Given the description of an element on the screen output the (x, y) to click on. 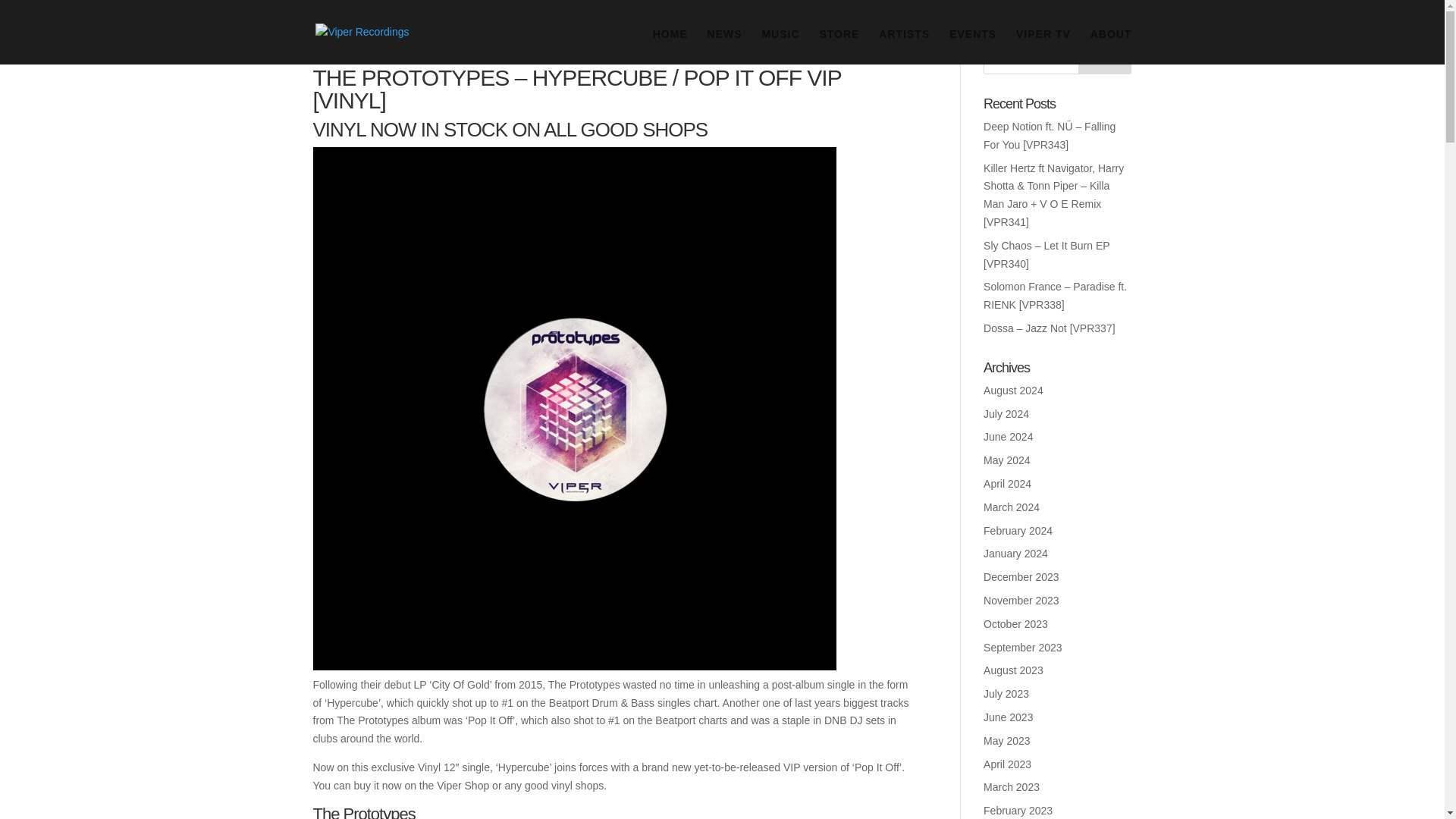
STORE (838, 44)
May 2023 (1006, 740)
July 2024 (1006, 413)
February 2023 (1018, 810)
April 2024 (1007, 483)
March 2023 (1011, 787)
March 2024 (1011, 507)
August 2024 (1013, 390)
January 2024 (1016, 553)
October 2023 (1016, 623)
December 2023 (1021, 576)
August 2023 (1013, 670)
June 2024 (1008, 436)
ARTISTS (904, 44)
ABOUT (1111, 44)
